Given the description of an element on the screen output the (x, y) to click on. 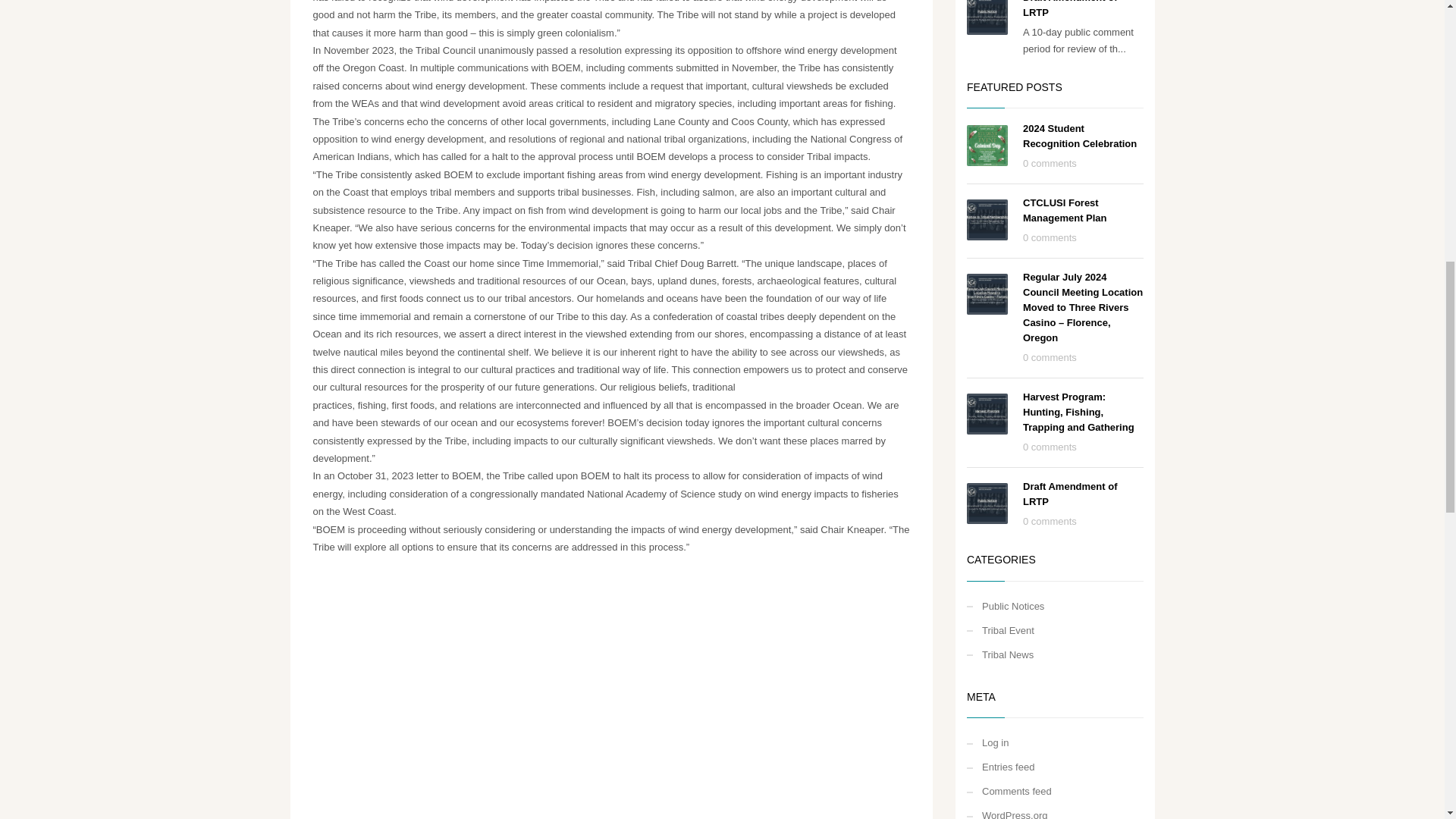
Draft Amendment of LRTP (1069, 9)
2024 Student Recognition Celebration (1080, 135)
CTCLUSI Forest Management Plan (1064, 210)
Draft Amendment of LRTP (1069, 493)
Harvest Program: Hunting, Fishing, Trapping and Gathering (1078, 412)
